Given the description of an element on the screen output the (x, y) to click on. 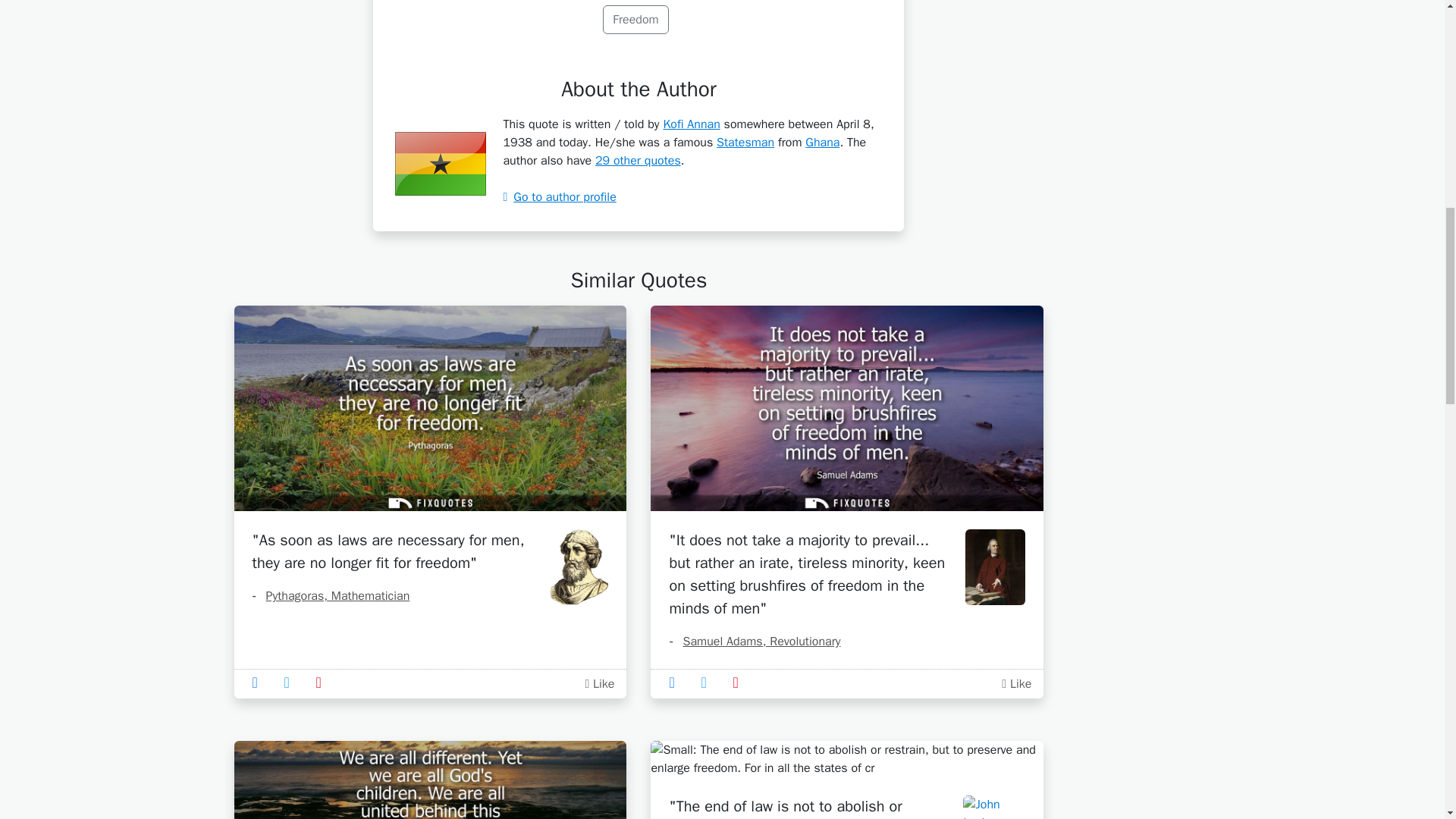
Freedom (635, 19)
Share on Facebook (258, 682)
Go to author profile (558, 196)
Ghana (822, 142)
Statesman (745, 142)
Share on Twitter (708, 682)
Pythagoras, Mathematician (330, 595)
Share on Twitter (290, 682)
Share on Pinterest (322, 682)
Share on Pinterest (740, 682)
